Given the description of an element on the screen output the (x, y) to click on. 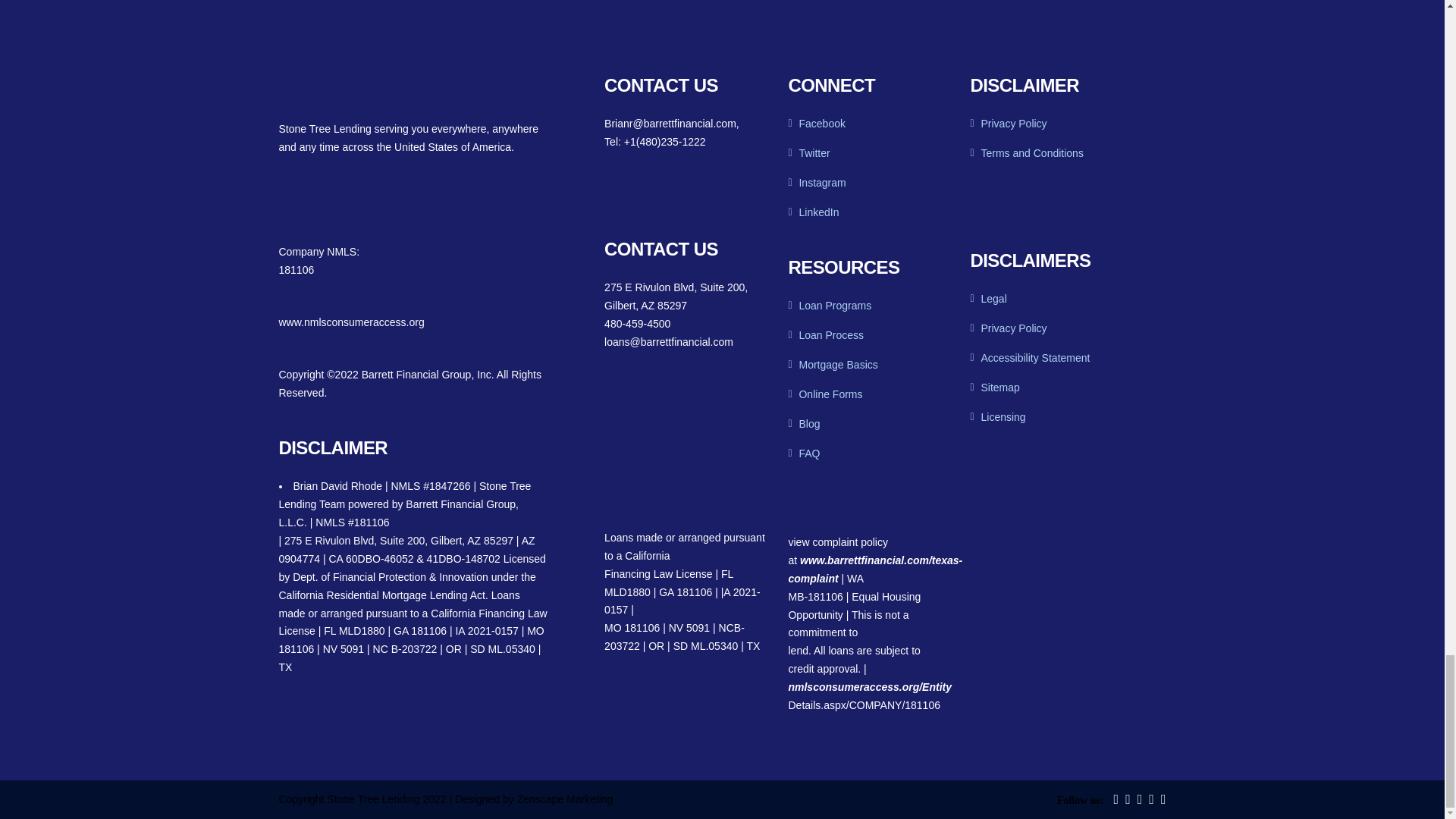
Loan Process (825, 335)
Twitter (808, 152)
Instagram (816, 182)
www.nmlsconsumeraccess.org (352, 322)
Loan Programs (828, 305)
LinkedIn (812, 212)
Facebook (815, 123)
